Given the description of an element on the screen output the (x, y) to click on. 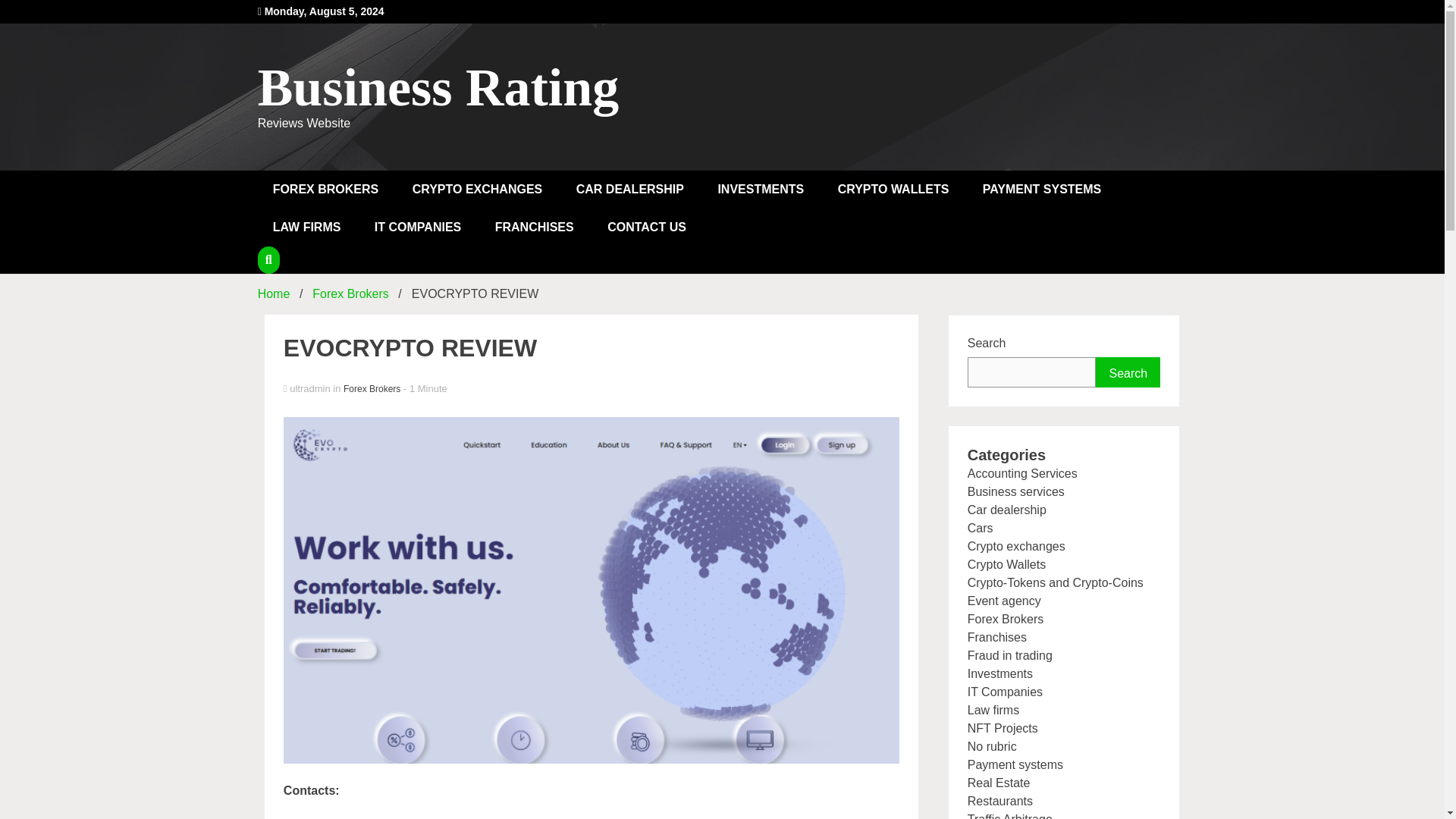
Estimated Reading Time of Article (424, 388)
INVESTMENTS (759, 189)
Forex Brokers (371, 388)
CRYPTO EXCHANGES (477, 189)
CONTACT US (646, 227)
Forex Brokers (350, 293)
CRYPTO WALLETS (892, 189)
CAR DEALERSHIP (629, 189)
FOREX BROKERS (325, 189)
Business Rating (438, 87)
IT COMPANIES (417, 227)
LAW FIRMS (306, 227)
ultradmin (591, 389)
PAYMENT SYSTEMS (1042, 189)
FRANCHISES (534, 227)
